Given the description of an element on the screen output the (x, y) to click on. 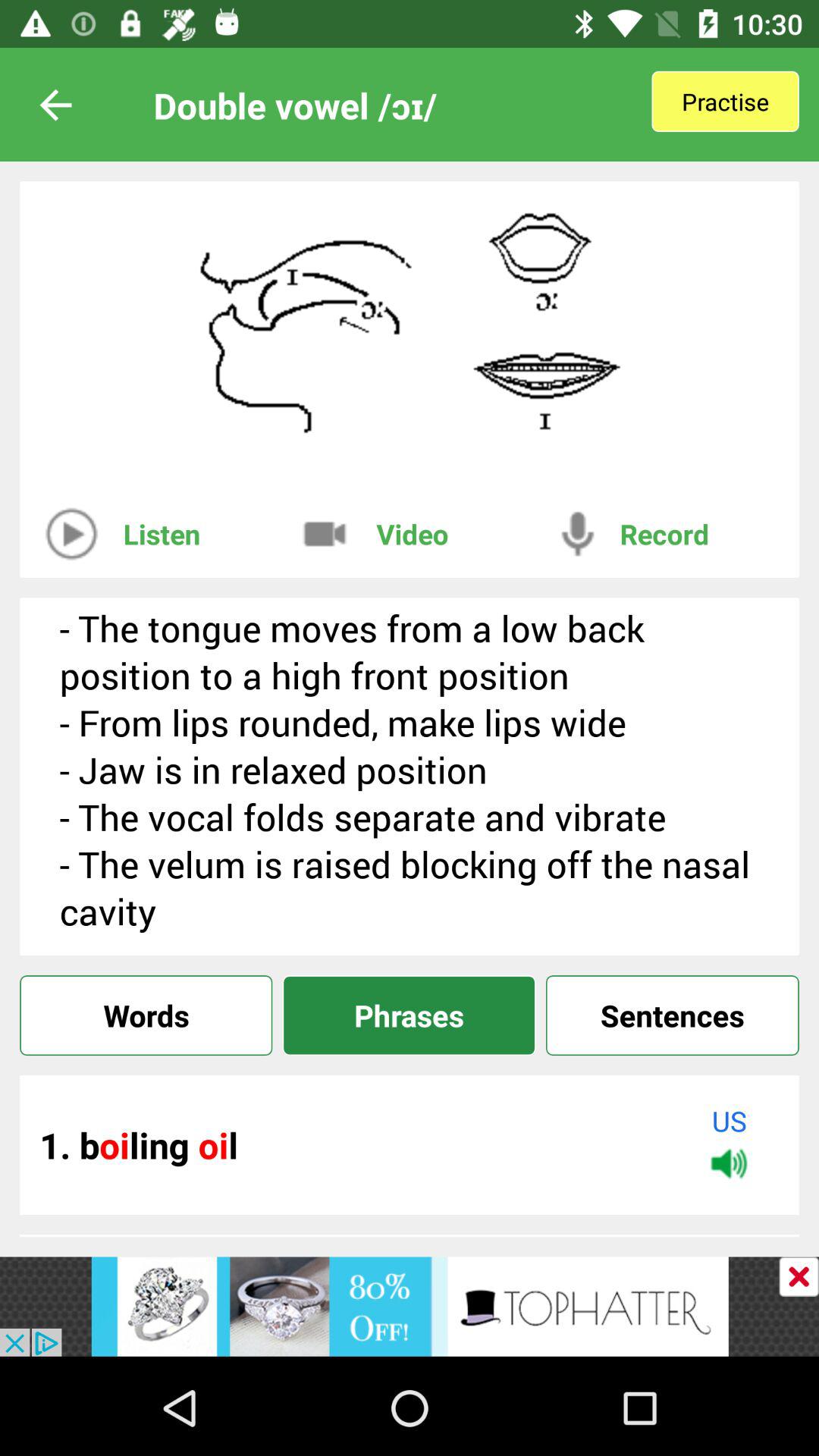
to view a tophatter advertisement (409, 1306)
